Given the description of an element on the screen output the (x, y) to click on. 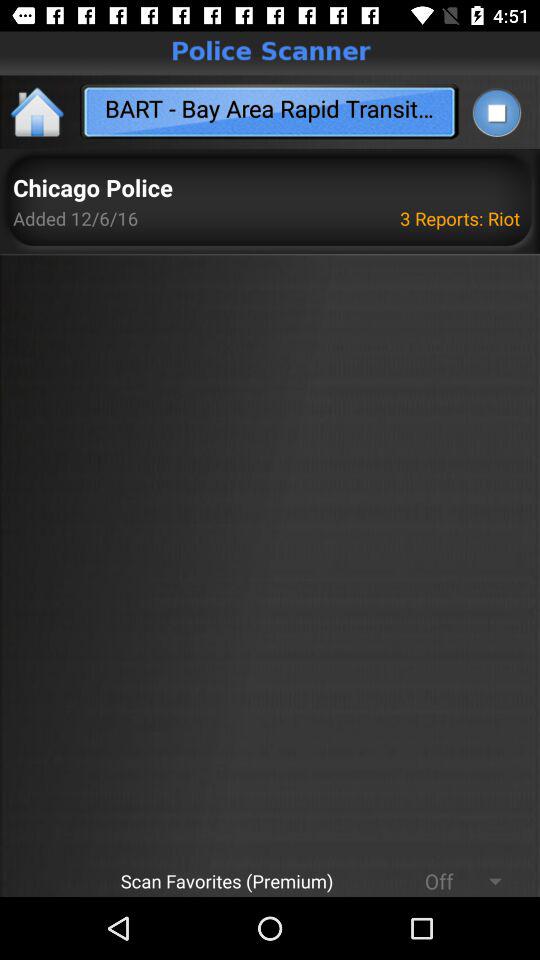
return home (38, 111)
